Given the description of an element on the screen output the (x, y) to click on. 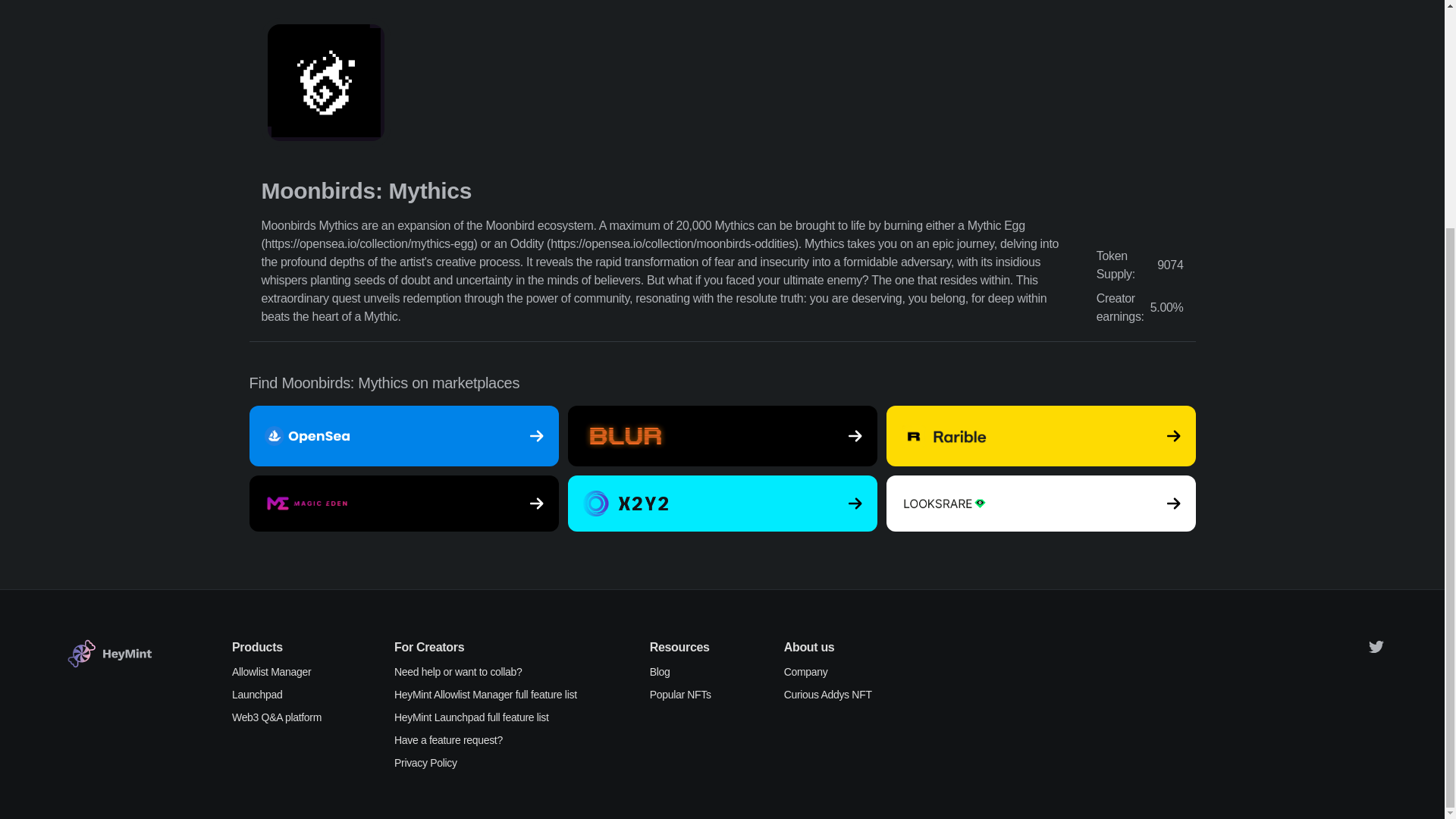
Privacy Policy (485, 762)
HeyMint Allowlist Manager full feature list (485, 694)
Curious Addys NFT (828, 694)
Launchpad (276, 694)
Need help or want to collab? (485, 671)
Company (828, 671)
Have a feature request? (485, 739)
Allowlist Manager (276, 671)
Popular NFTs (680, 694)
HeyMint Launchpad full feature list (485, 717)
Blog (680, 671)
